Given the description of an element on the screen output the (x, y) to click on. 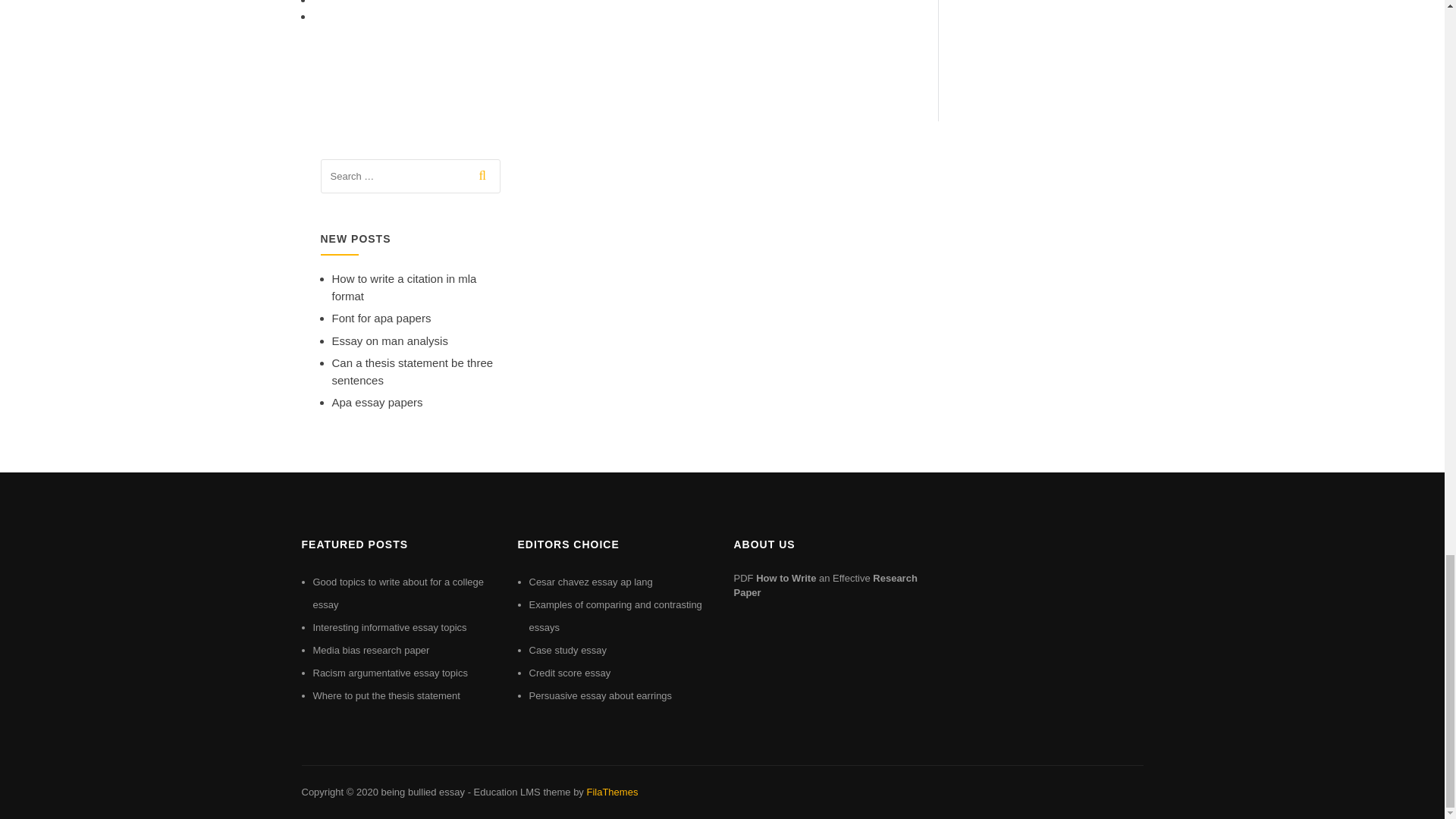
Essay on man analysis (389, 340)
How to write a citation in mla format (404, 286)
being bullied essay (422, 791)
Persuasive essay about earrings (600, 695)
Case study essay (568, 650)
Good topics to write about for a college essay (398, 593)
Cesar chavez essay ap lang (590, 582)
Font for apa papers (380, 318)
Can a thesis statement be three sentences (412, 371)
Examples of comparing and contrasting essays (615, 615)
Interesting informative essay topics (389, 627)
Apa essay papers (377, 401)
Credit score essay (570, 672)
Media bias research paper (371, 650)
being bullied essay (422, 791)
